Given the description of an element on the screen output the (x, y) to click on. 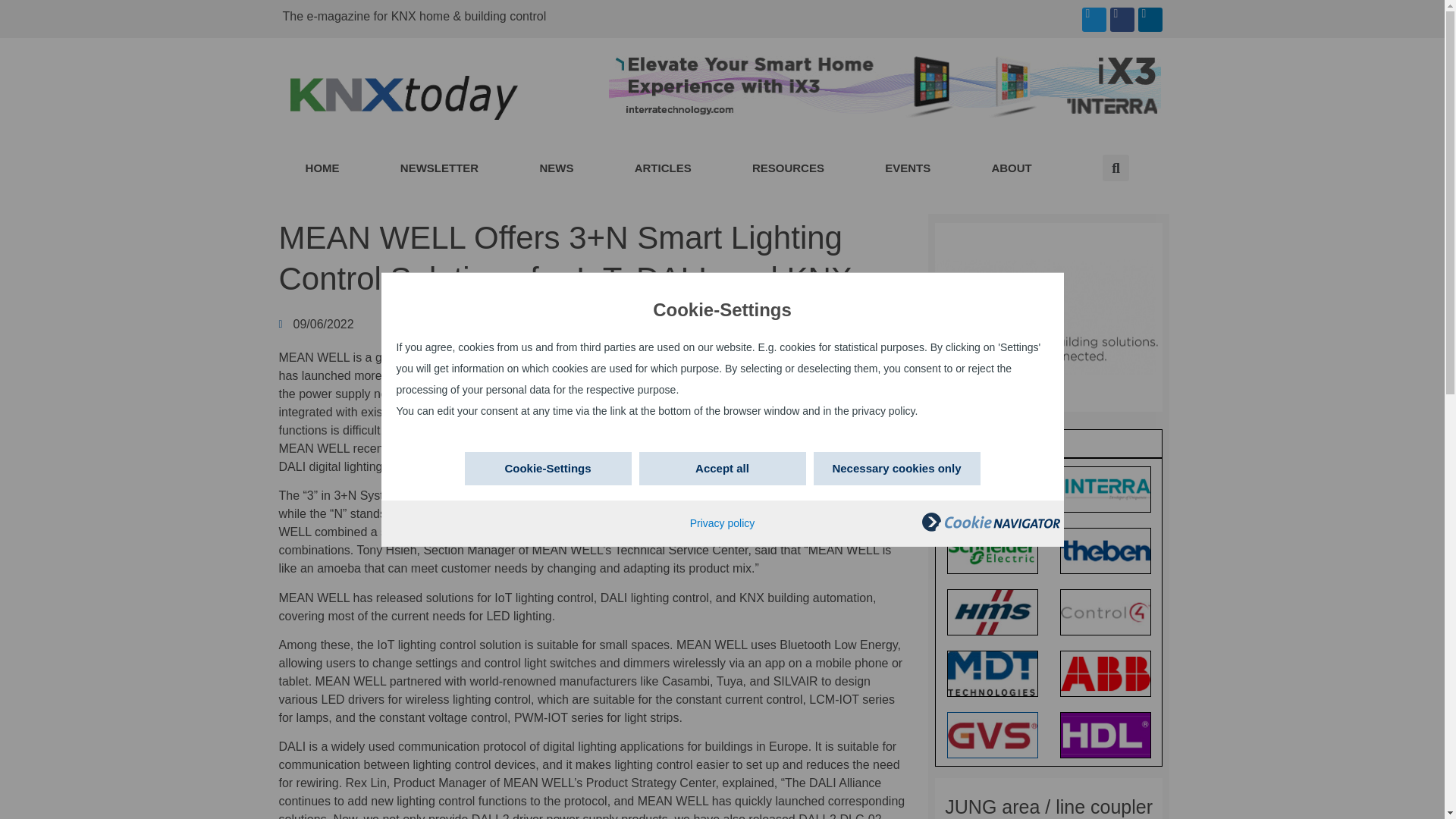
ARTICLES (663, 167)
NEWSLETTER (439, 167)
Cookie-Navigator (990, 527)
Privacy policy (722, 522)
RESOURCES (788, 167)
Cookie-Settings (547, 468)
HOME (322, 167)
EVENTS (907, 167)
Cookie-Navigator (990, 521)
Accept all (722, 468)
